Given the description of an element on the screen output the (x, y) to click on. 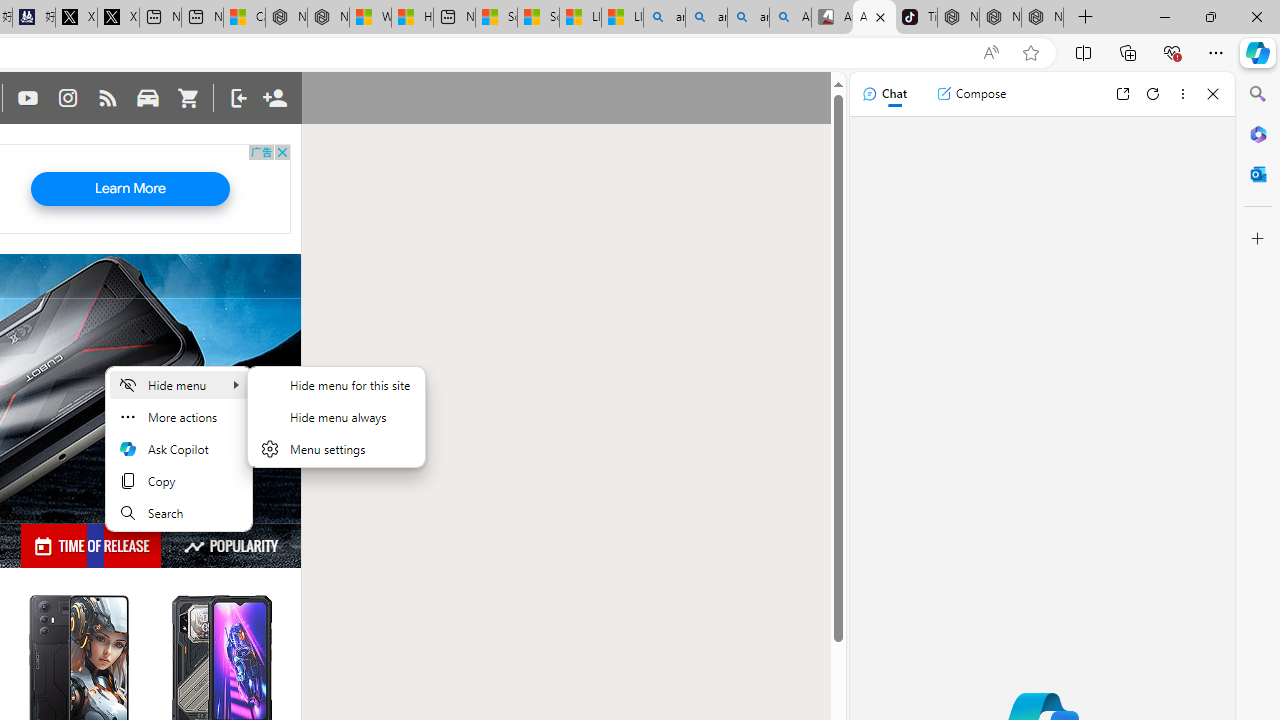
TikTok (916, 17)
amazon - Search (706, 17)
Learn More (129, 189)
Mini menu on text selection (178, 460)
Mini menu on text selection (179, 449)
